Given the description of an element on the screen output the (x, y) to click on. 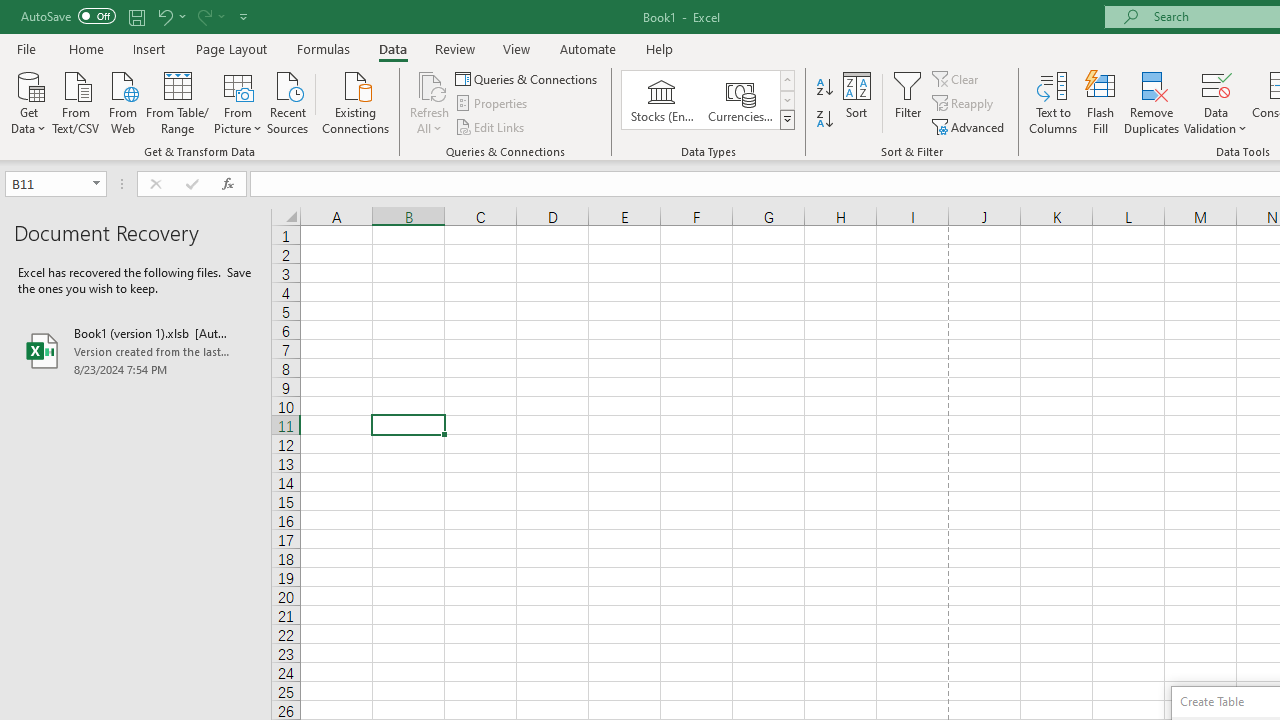
Properties (492, 103)
Flash Fill (1101, 102)
AutomationID: ConvertToLinkedEntity (708, 99)
